Given the description of an element on the screen output the (x, y) to click on. 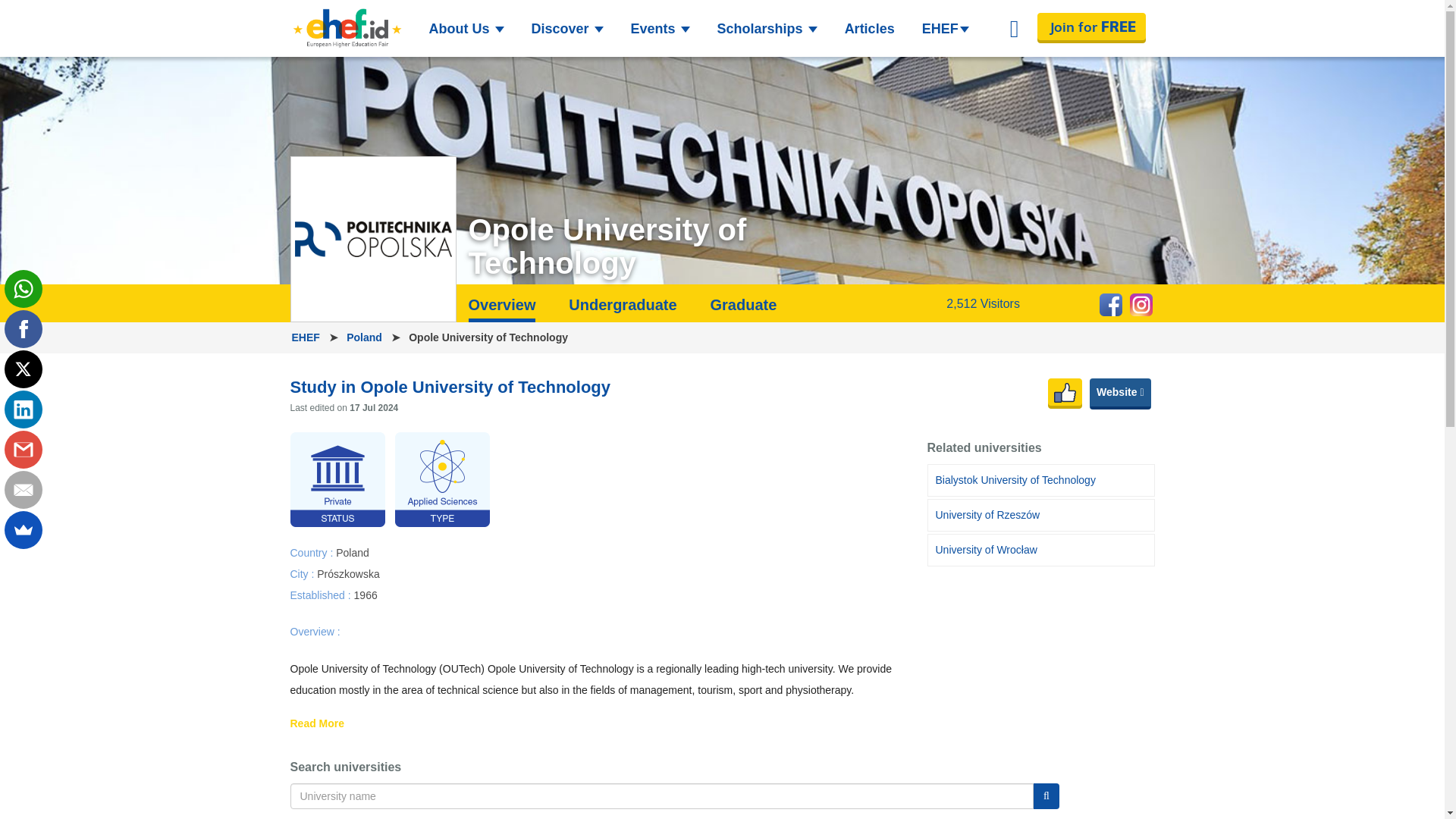
Discover (566, 28)
X (23, 369)
Overview (501, 308)
Events (660, 28)
EHEF (306, 337)
Articles (869, 28)
EHEF (945, 28)
Poland (365, 337)
Facebook (23, 329)
Website (1119, 393)
Logo ehef.id (346, 27)
Scholarships (767, 28)
About Us (467, 28)
SumoMe (23, 529)
LinkedIn (23, 409)
